Given the description of an element on the screen output the (x, y) to click on. 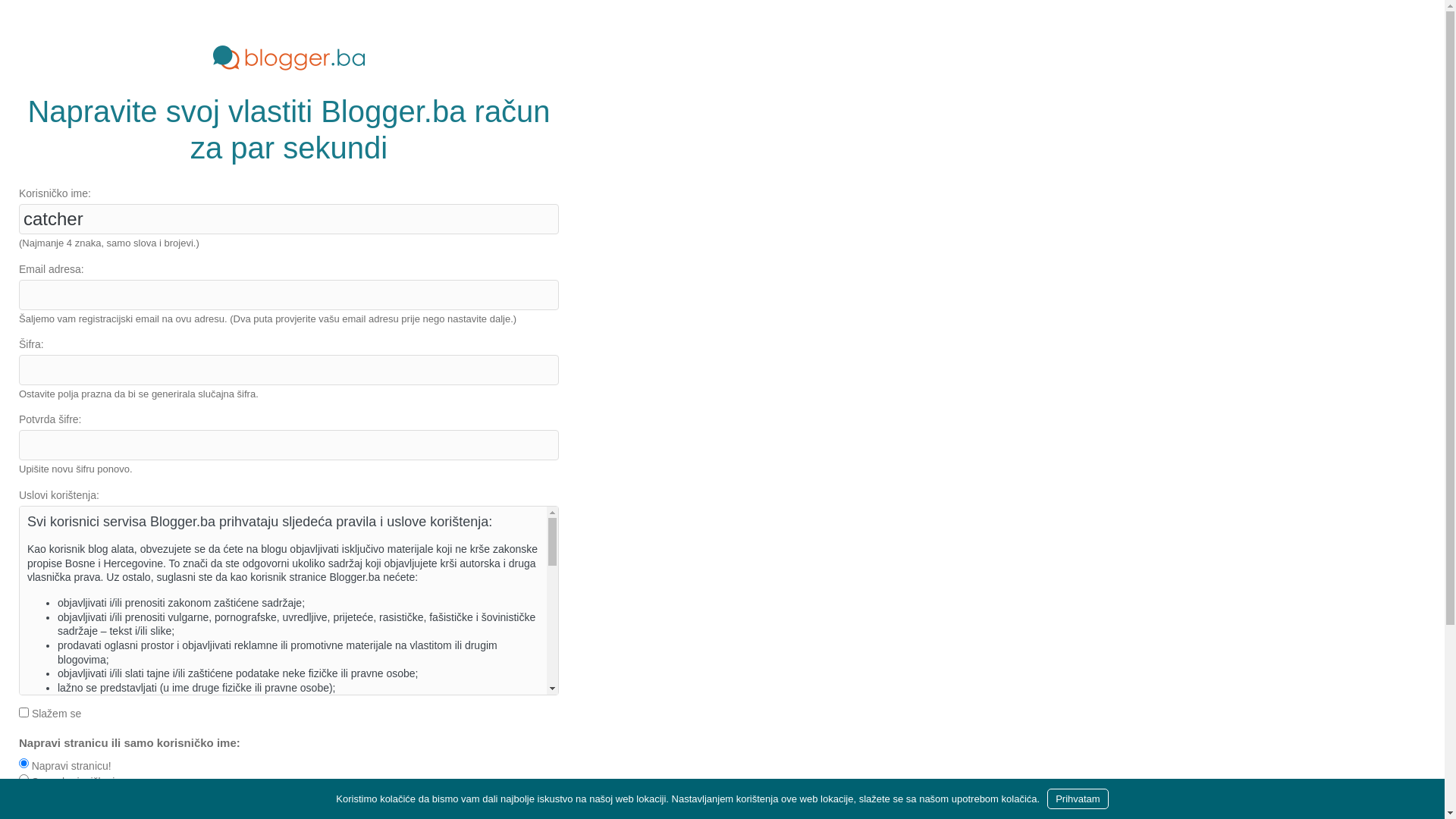
Prihvatam Element type: text (1077, 798)
